Given the description of an element on the screen output the (x, y) to click on. 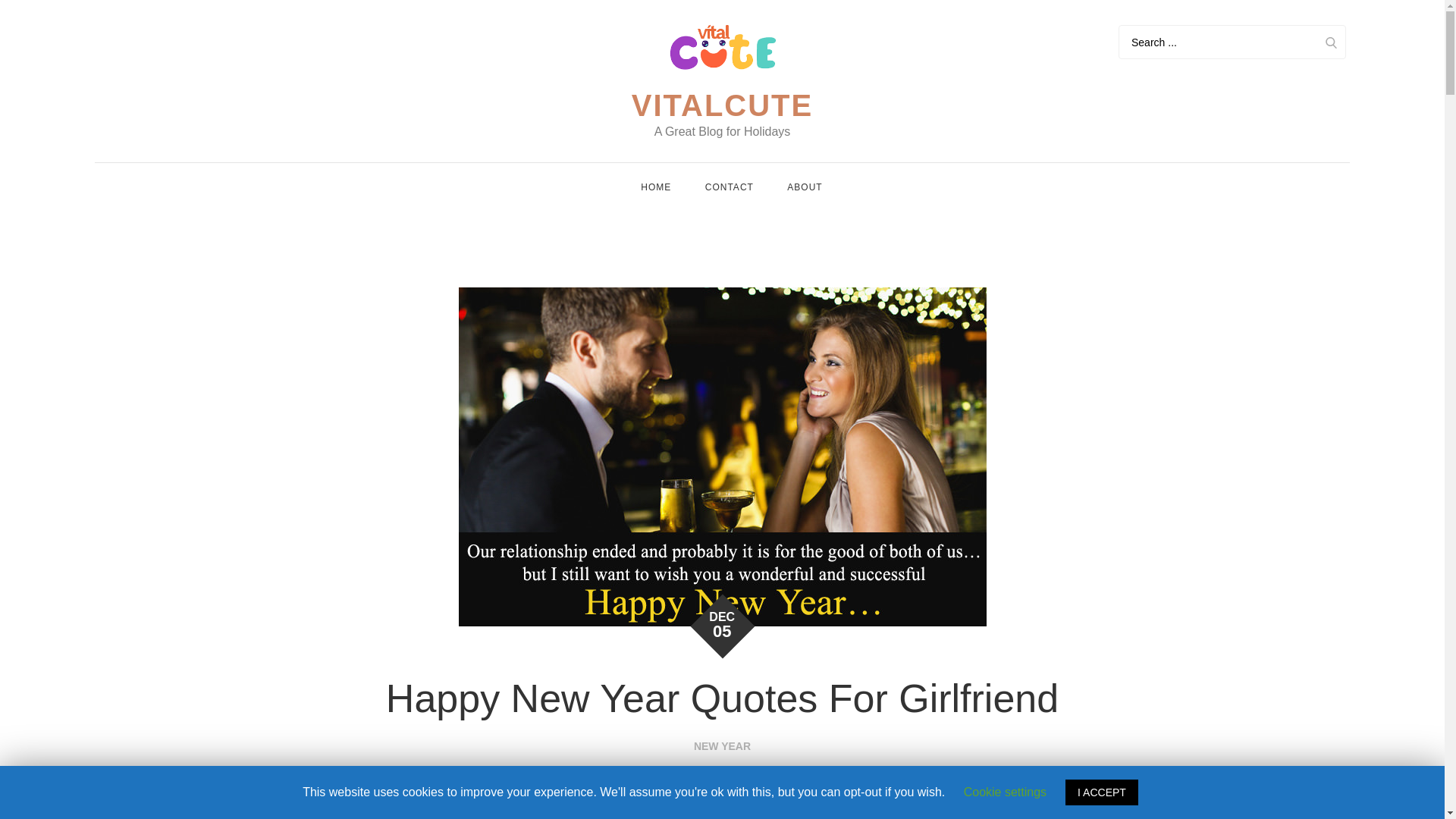
ABOUT (804, 186)
VITALCUTE (721, 105)
NEW YEAR (722, 746)
HOME (655, 186)
CONTACT (729, 186)
Search for: (1231, 41)
Search (1330, 41)
Search for: (1035, 816)
